Given the description of an element on the screen output the (x, y) to click on. 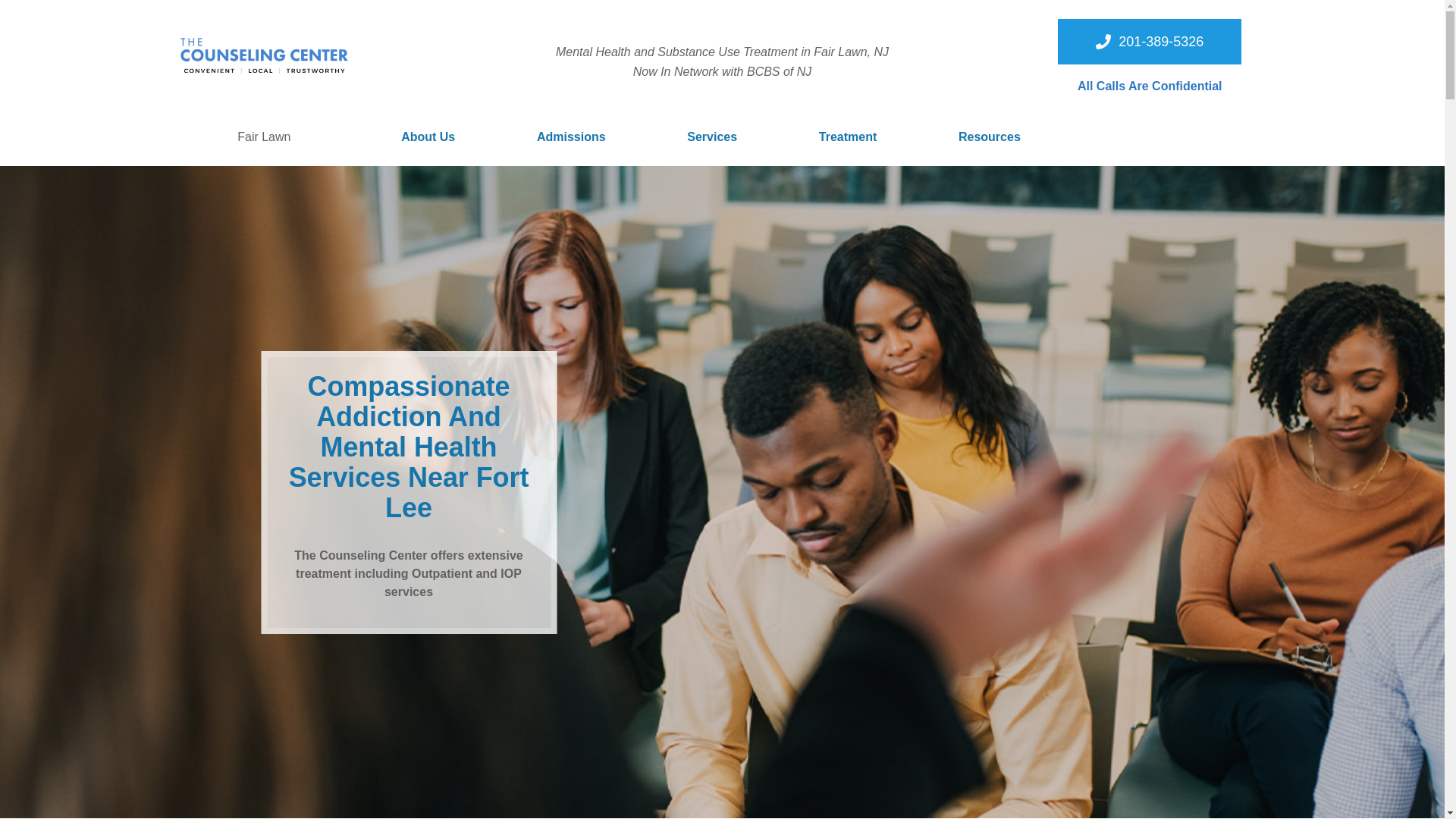
Services (711, 136)
The Counseling Center at Fair Lawn Home (264, 56)
201-389-5326 (1149, 41)
Treatment (847, 136)
Admissions (571, 136)
About Us (427, 136)
